Given the description of an element on the screen output the (x, y) to click on. 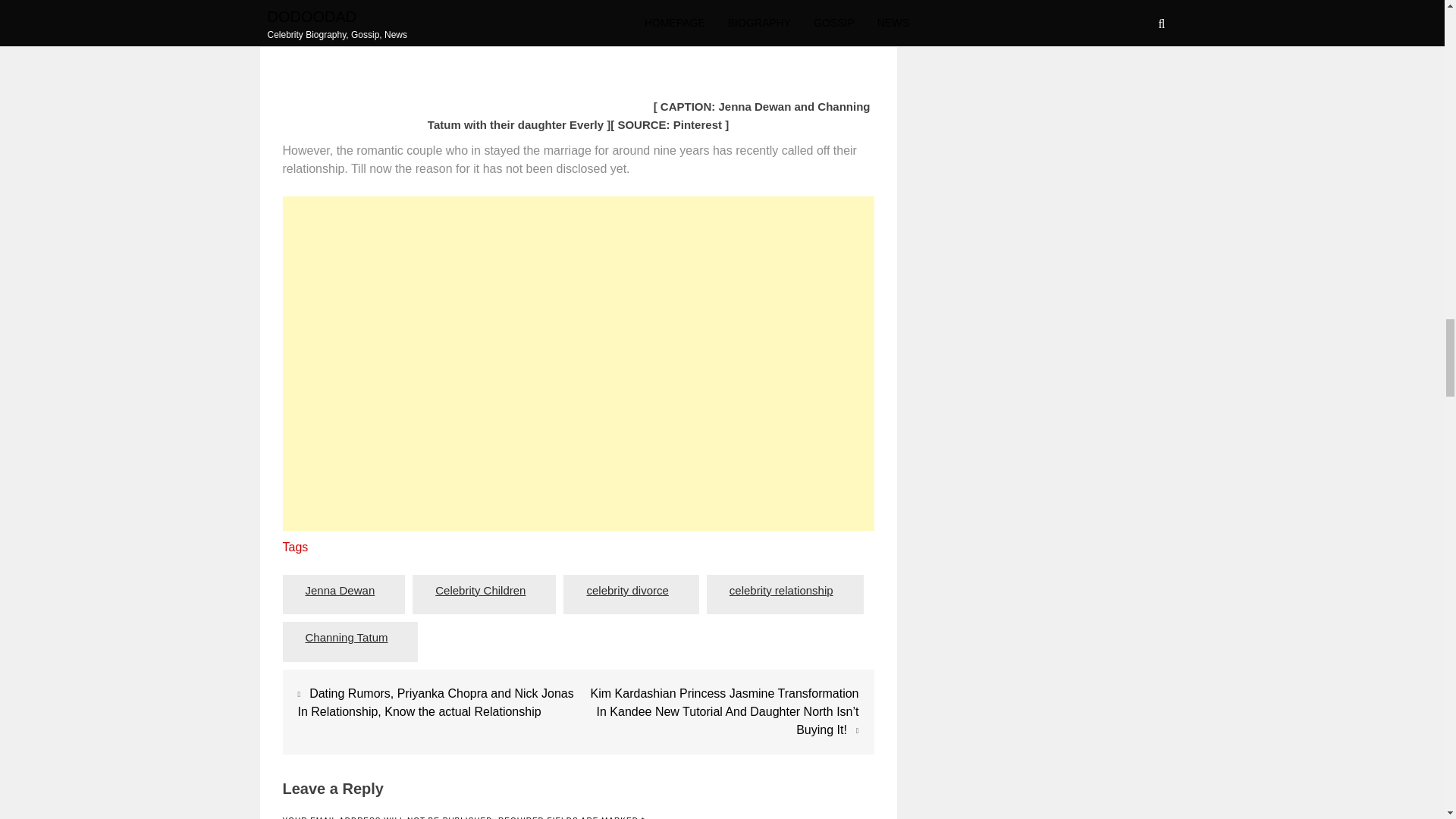
Celebrity Children (480, 590)
Channing Tatum (346, 637)
celebrity relationship (780, 590)
Jenna Dewan (340, 590)
celebrity divorce (627, 590)
